Given the description of an element on the screen output the (x, y) to click on. 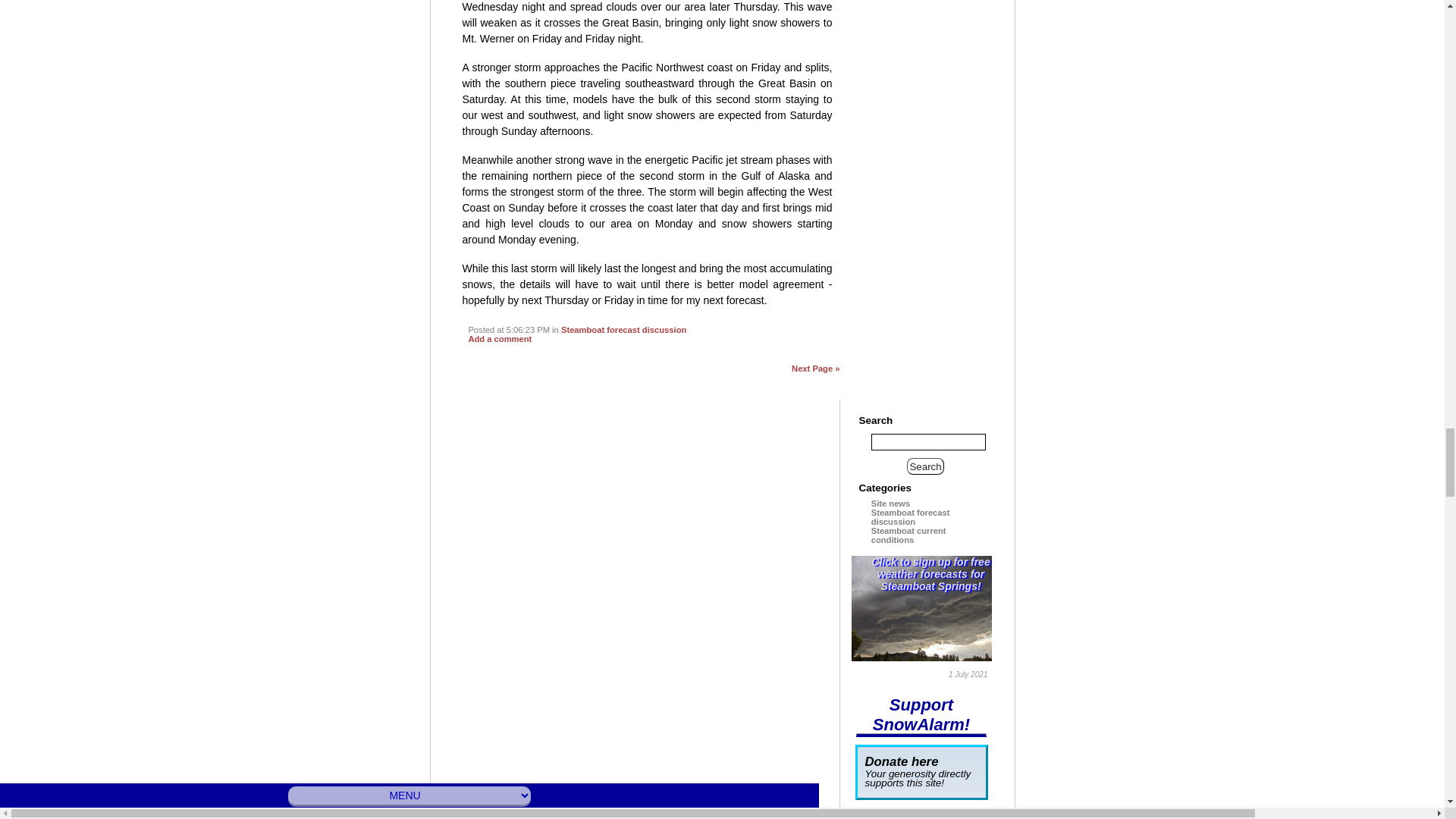
Search (925, 466)
